Given the description of an element on the screen output the (x, y) to click on. 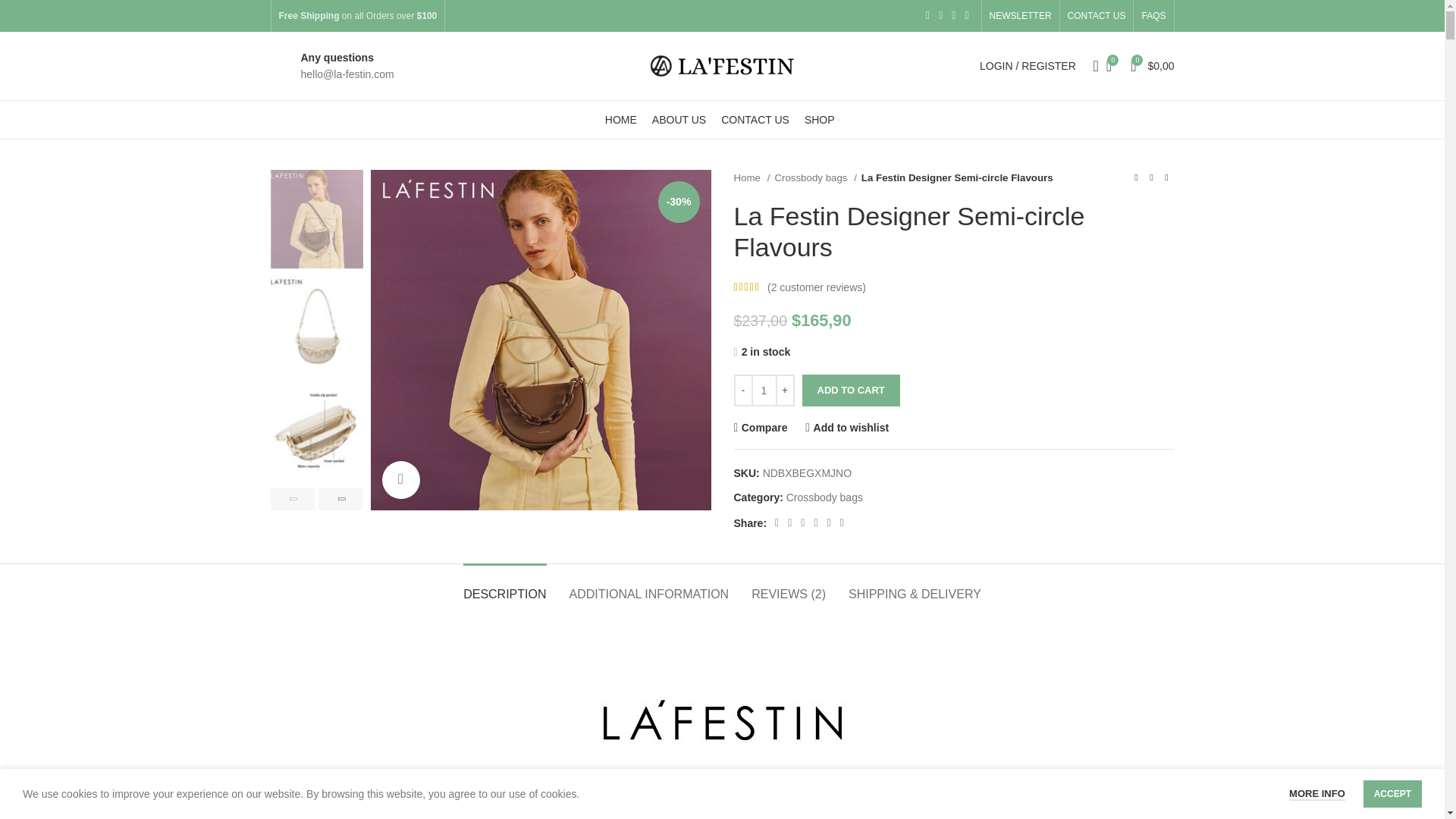
CONTACT US (754, 119)
La Festin Designer Semi-circle Flavours 2 (823, 178)
SHOP (822, 119)
ABOUT US (679, 119)
Home (751, 177)
Shopping cart (1151, 65)
Crossbody bags (815, 177)
La Festin Designer Semi-circle Flavours (721, 742)
La Festin Designer Semi-circle Flavours 3 (1170, 178)
NEWSLETTER (1020, 15)
CONTACT US (1096, 15)
My account (1027, 65)
La Festin Designer Semi-circle Flavours 1 (539, 339)
HOME (621, 119)
